Given the description of an element on the screen output the (x, y) to click on. 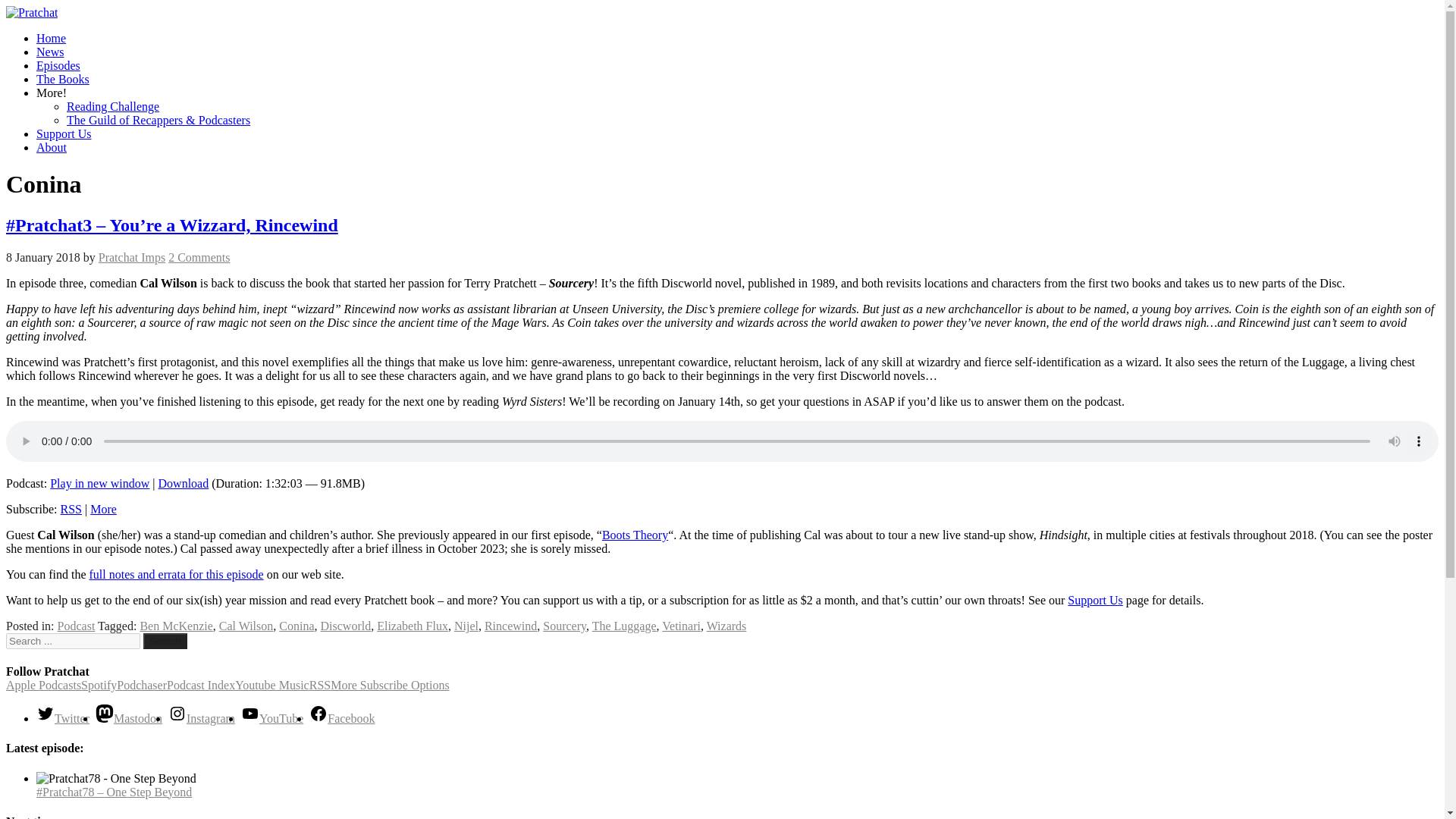
Download (183, 482)
Cal Wilson (246, 625)
Podchaser (141, 684)
2 Comments (199, 256)
Spotify (98, 684)
Nijel (466, 625)
full notes and errata for this episode (175, 574)
The Luggage (624, 625)
Posts by Pratchat Imps (132, 256)
Elizabeth Flux (412, 625)
Monday, January 8, 2018, 7:08 am (42, 256)
Reading Challenge (112, 106)
More! (51, 92)
Home (50, 38)
Pratchat Imps (132, 256)
